Given the description of an element on the screen output the (x, y) to click on. 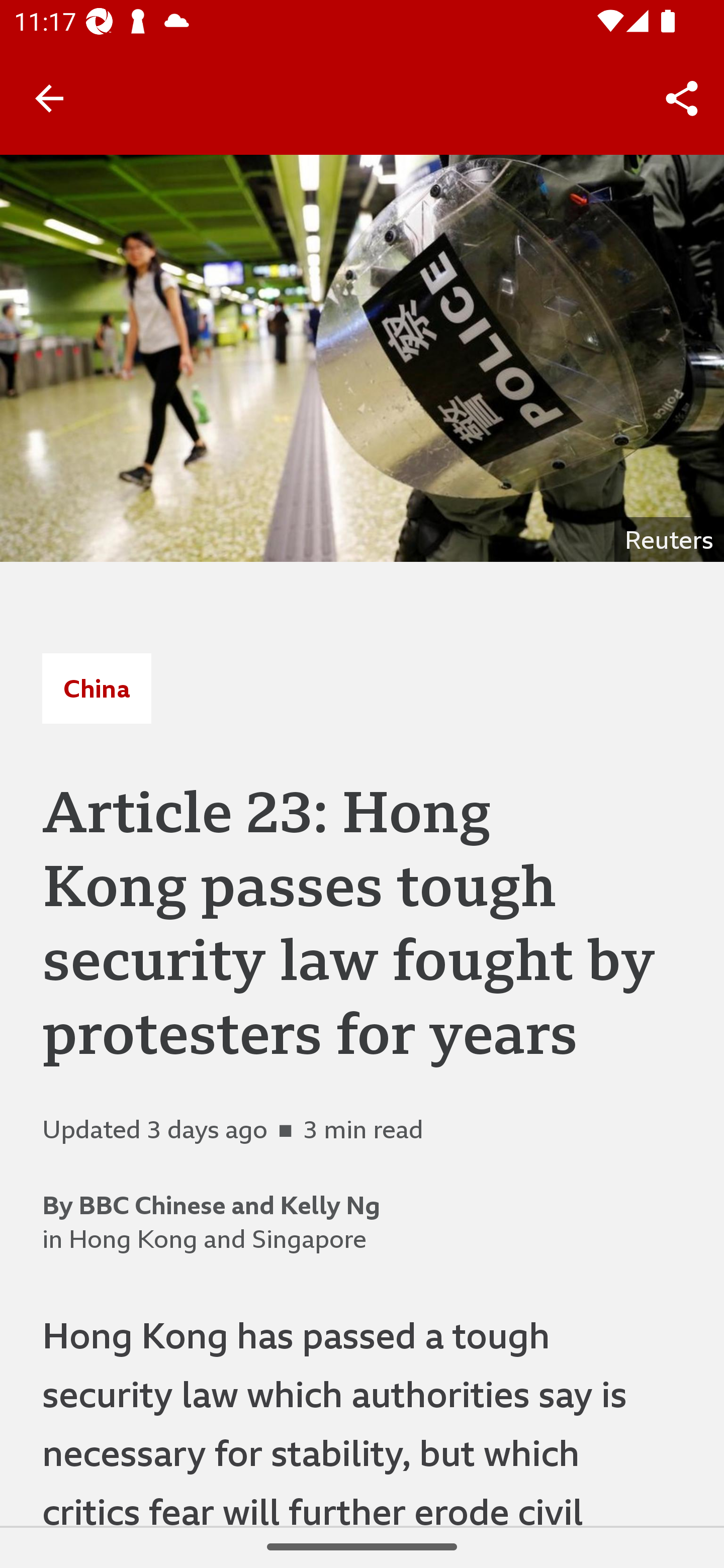
Back (49, 97)
Share (681, 98)
China (96, 688)
